Given the description of an element on the screen output the (x, y) to click on. 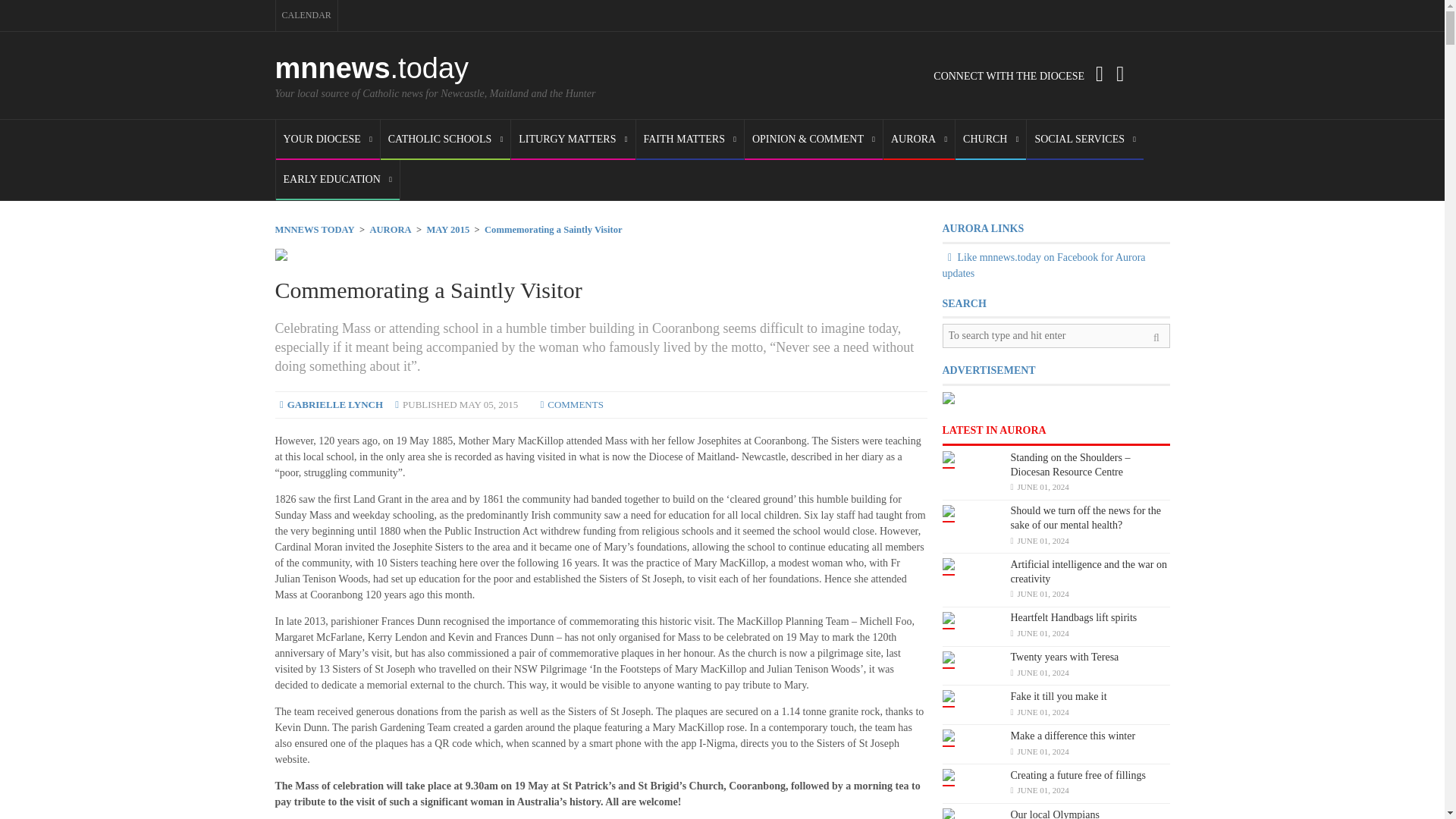
mnnews.today (371, 68)
CALENDAR (306, 15)
LITURGY MATTERS (572, 139)
CATHOLIC SCHOOLS (445, 139)
YOUR DIOCESE (328, 139)
